Given the description of an element on the screen output the (x, y) to click on. 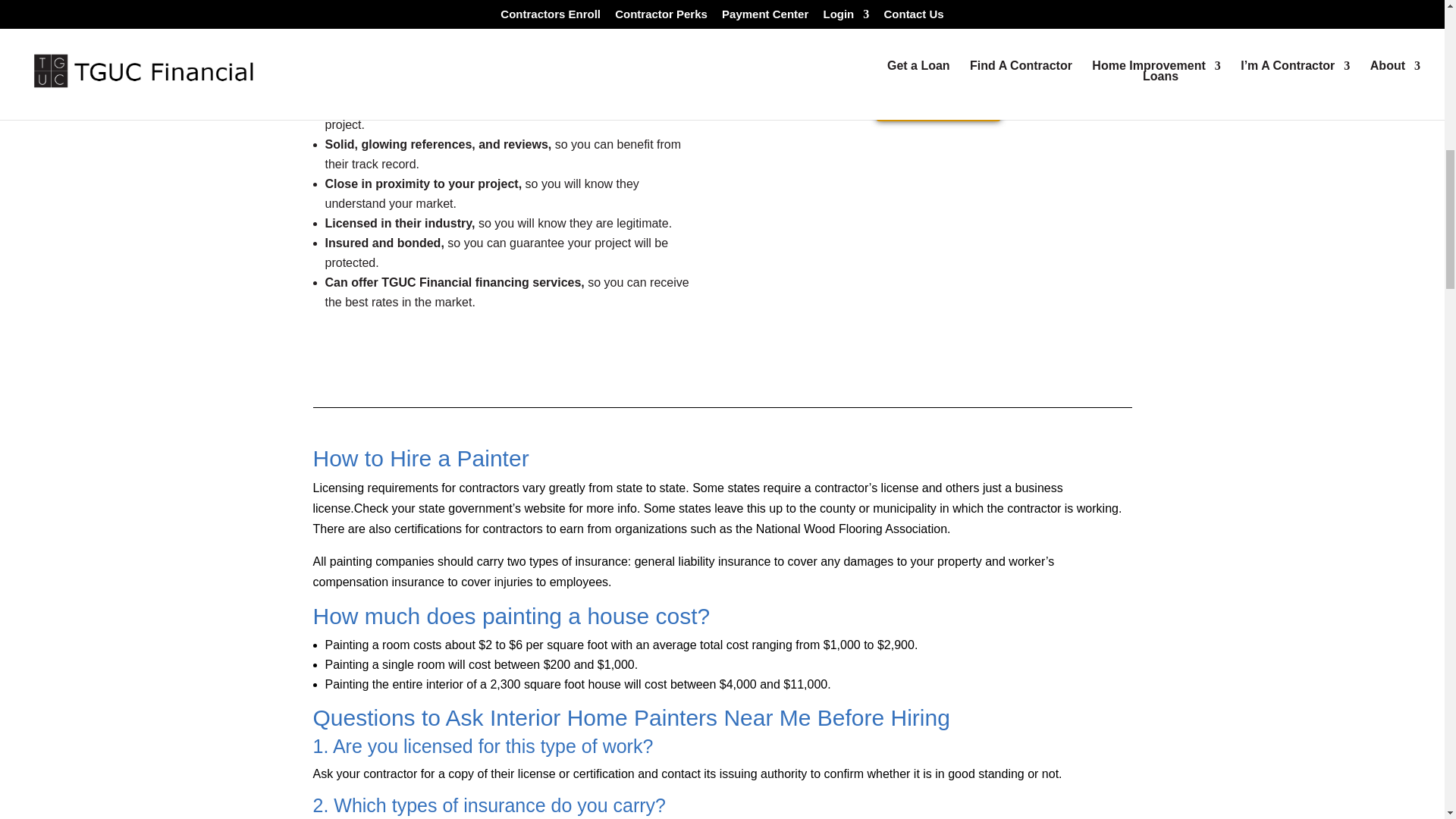
Get My Quotes (938, 101)
